Given the description of an element on the screen output the (x, y) to click on. 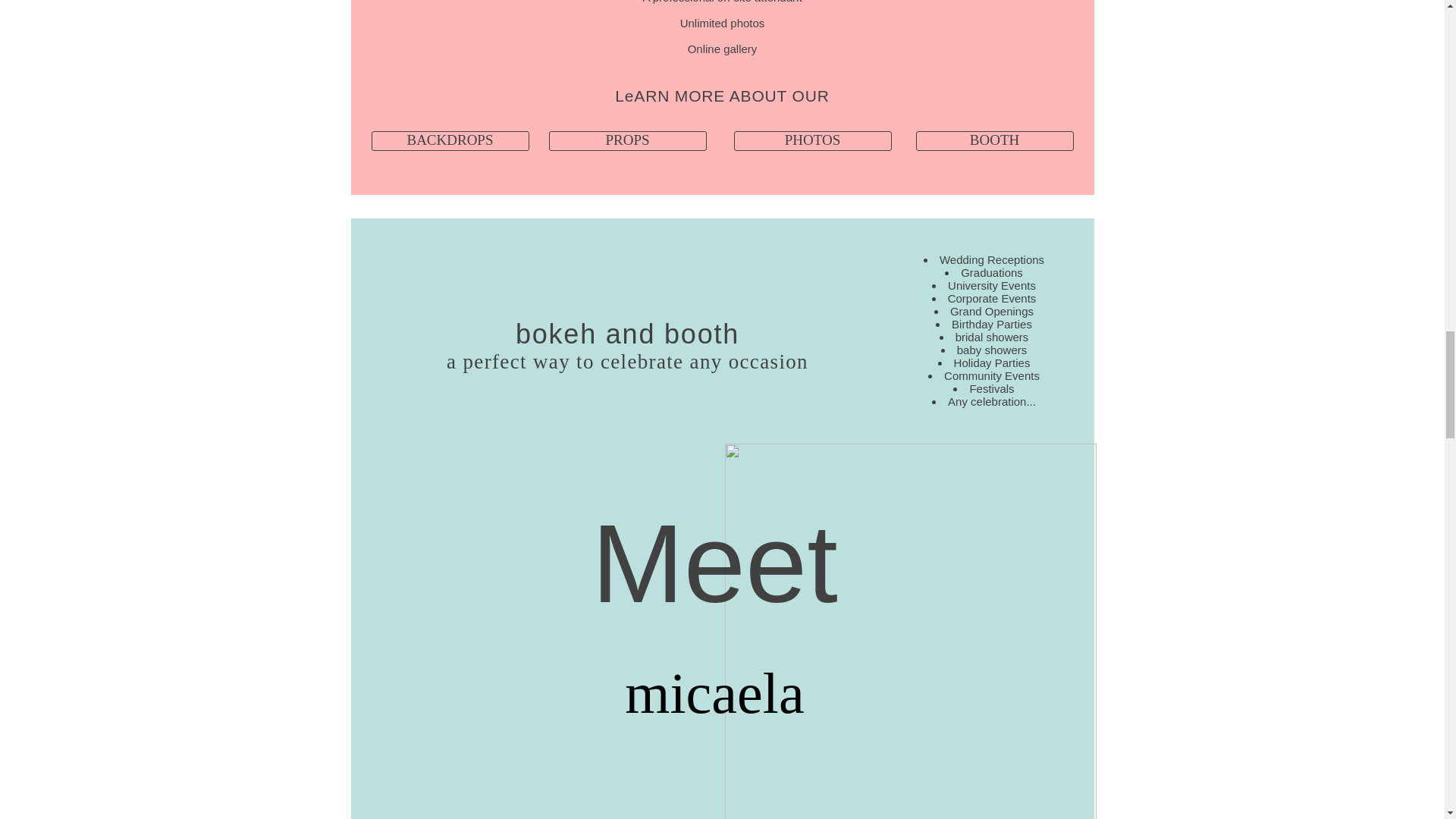
PROPS (627, 140)
BOOTH (994, 140)
BACKDROPS (450, 140)
PHOTOS (812, 140)
